Given the description of an element on the screen output the (x, y) to click on. 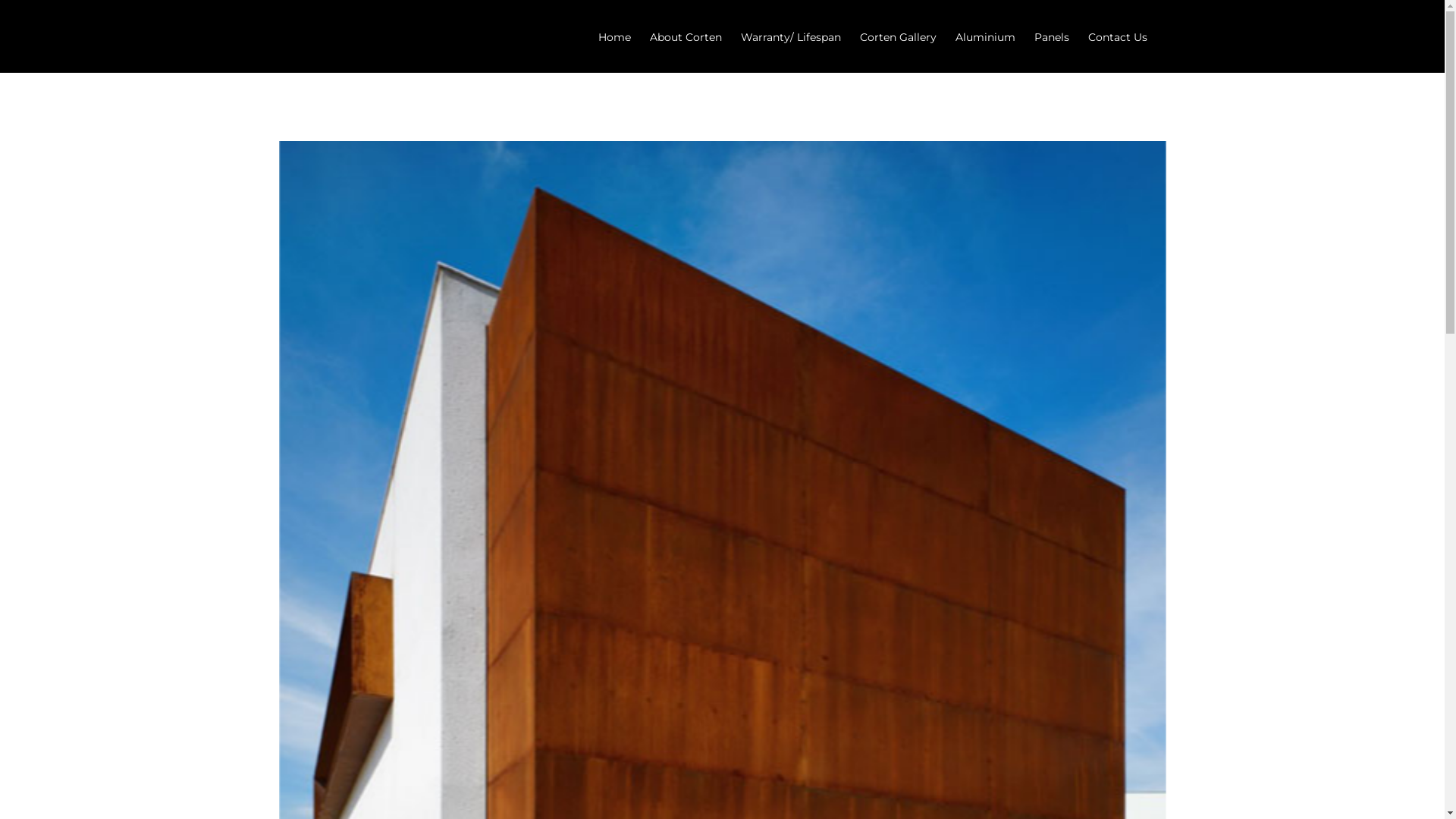
Panels Element type: text (1051, 36)
Warranty/ Lifespan Element type: text (790, 36)
About Corten Element type: text (685, 36)
Home Element type: text (613, 36)
Contact Us Element type: text (1116, 36)
Aluminium Element type: text (985, 36)
Corten Gallery Element type: text (897, 36)
